Given the description of an element on the screen output the (x, y) to click on. 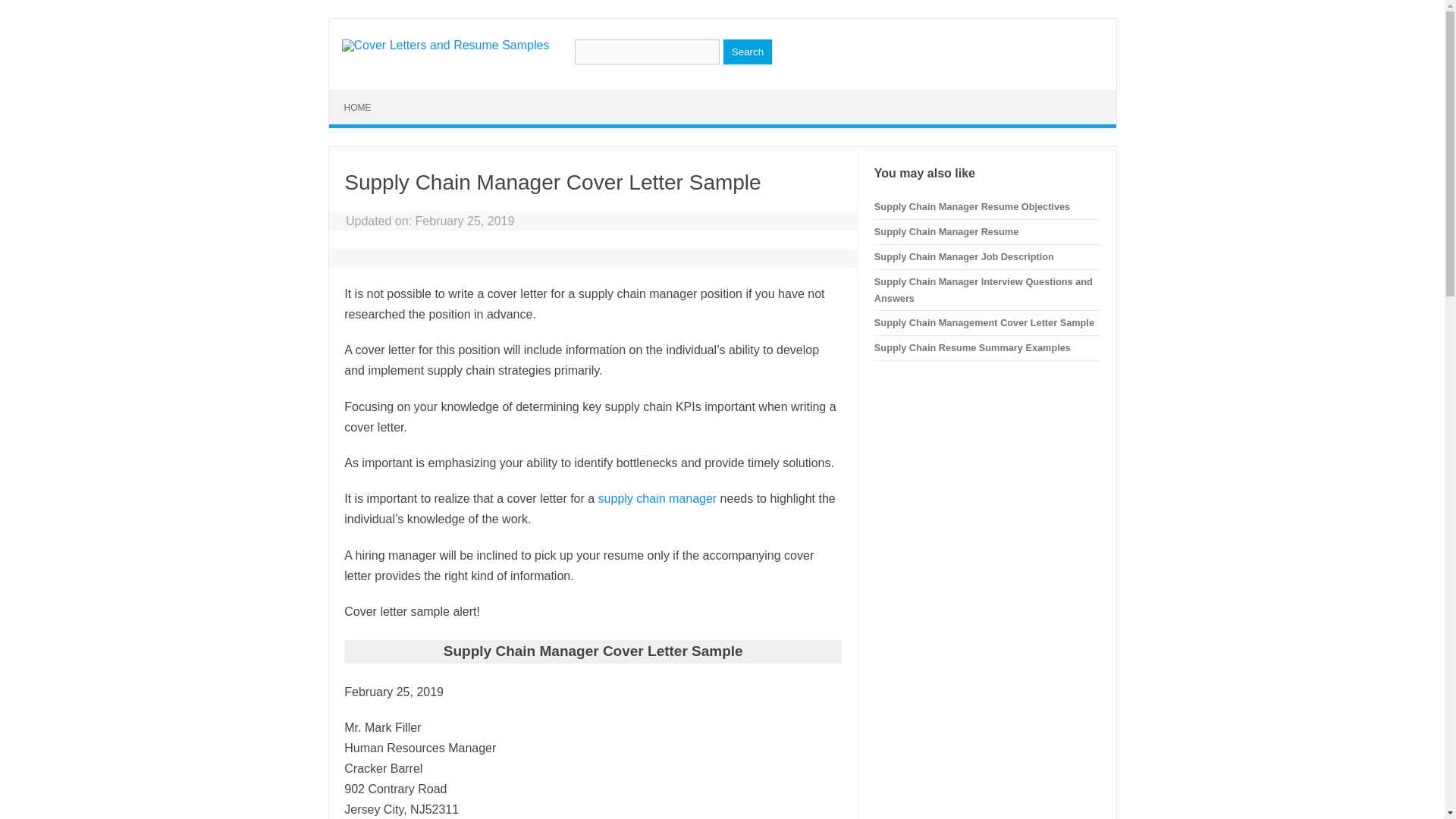
Supply Chain Manager Job Description (964, 256)
Search (747, 51)
Supply Chain Manager Interview Questions and Answers (984, 289)
Supply Chain Manager Resume (946, 231)
HOME (358, 107)
Supply Chain Management Cover Letter Sample (984, 322)
supply chain manager (655, 498)
Search (747, 51)
Supply Chain Resume Summary Examples (972, 347)
